Given the description of an element on the screen output the (x, y) to click on. 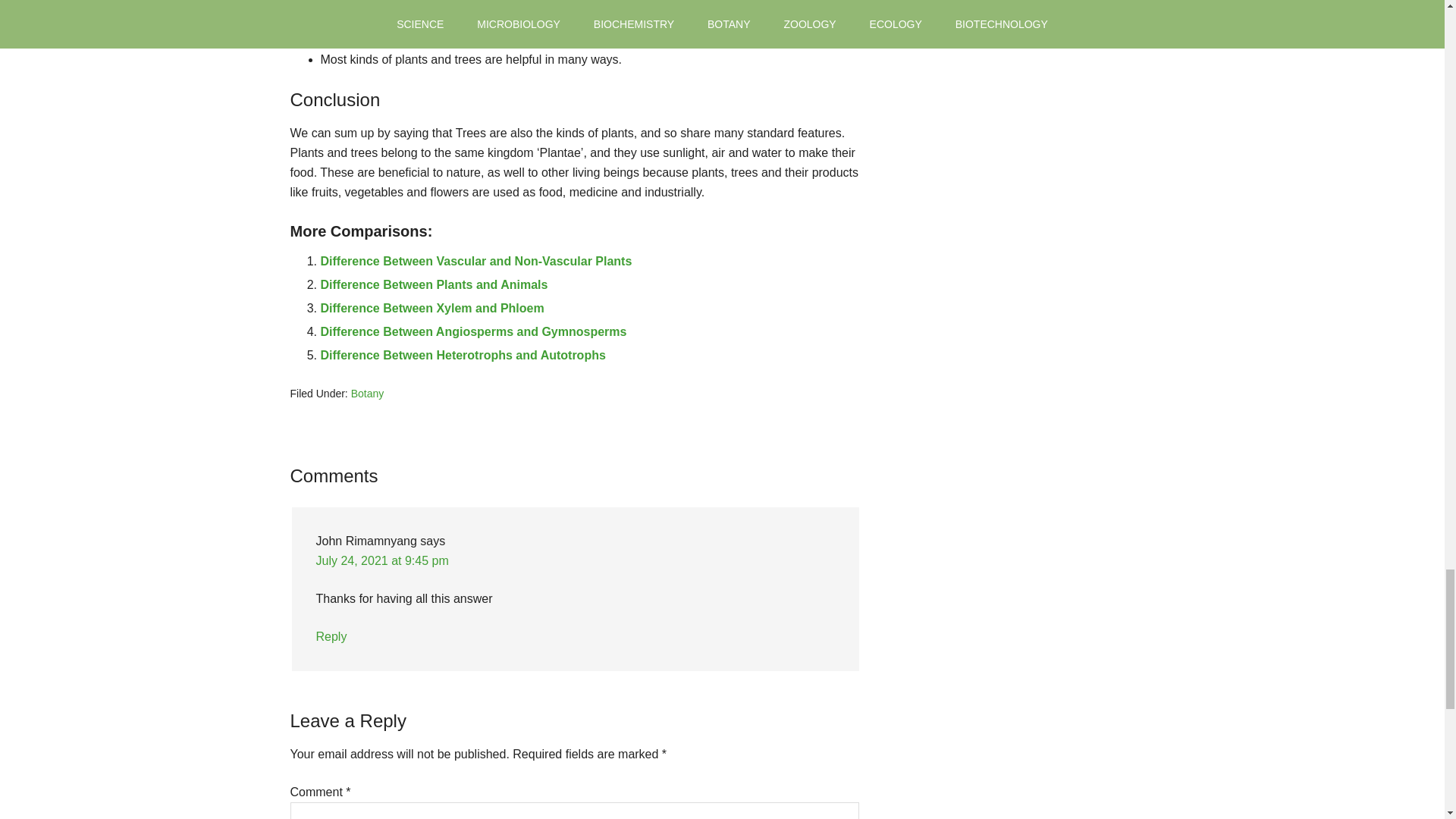
Difference Between Heterotrophs and Autotrophs (462, 354)
Difference Between Angiosperms and Gymnosperms (473, 331)
Difference Between Angiosperms and Gymnosperms (473, 331)
Difference Between Heterotrophs and Autotrophs (462, 354)
Botany (367, 393)
Reply (330, 635)
July 24, 2021 at 9:45 pm (381, 560)
Difference Between Plants and Animals (433, 284)
Difference Between Vascular and Non-Vascular Plants (475, 260)
Difference Between Plants and Animals (433, 284)
Difference Between Vascular and Non-Vascular Plants (475, 260)
Difference Between Xylem and Phloem (431, 308)
Difference Between Xylem and Phloem (431, 308)
